Given the description of an element on the screen output the (x, y) to click on. 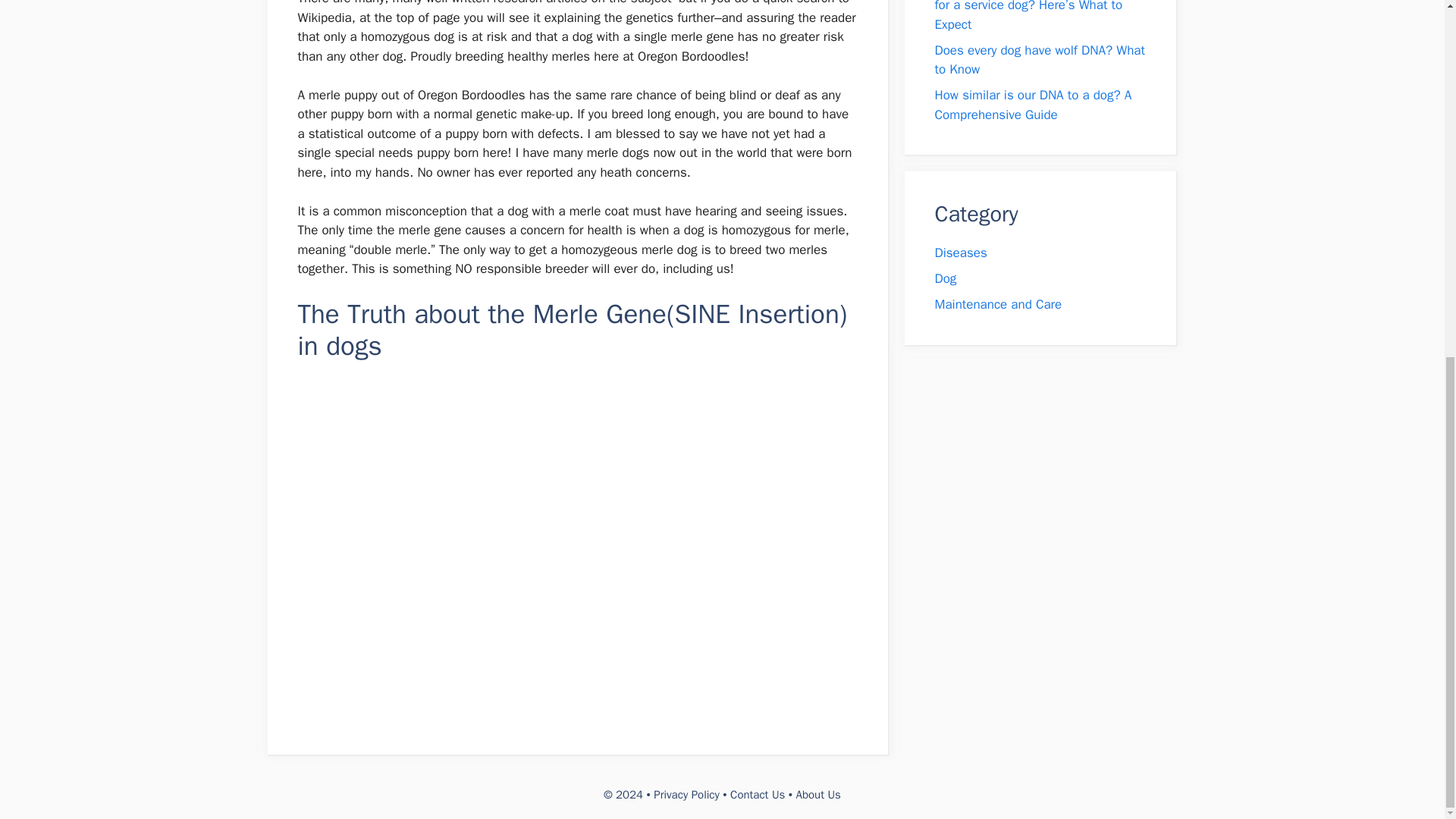
Diseases (960, 252)
Contact Us (757, 794)
Maintenance and Care (997, 304)
How similar is our DNA to a dog? A Comprehensive Guide (1032, 104)
Dog (945, 278)
About Us (818, 794)
Does every dog have wolf DNA? What to Know (1039, 59)
Privacy Policy (686, 794)
